Given the description of an element on the screen output the (x, y) to click on. 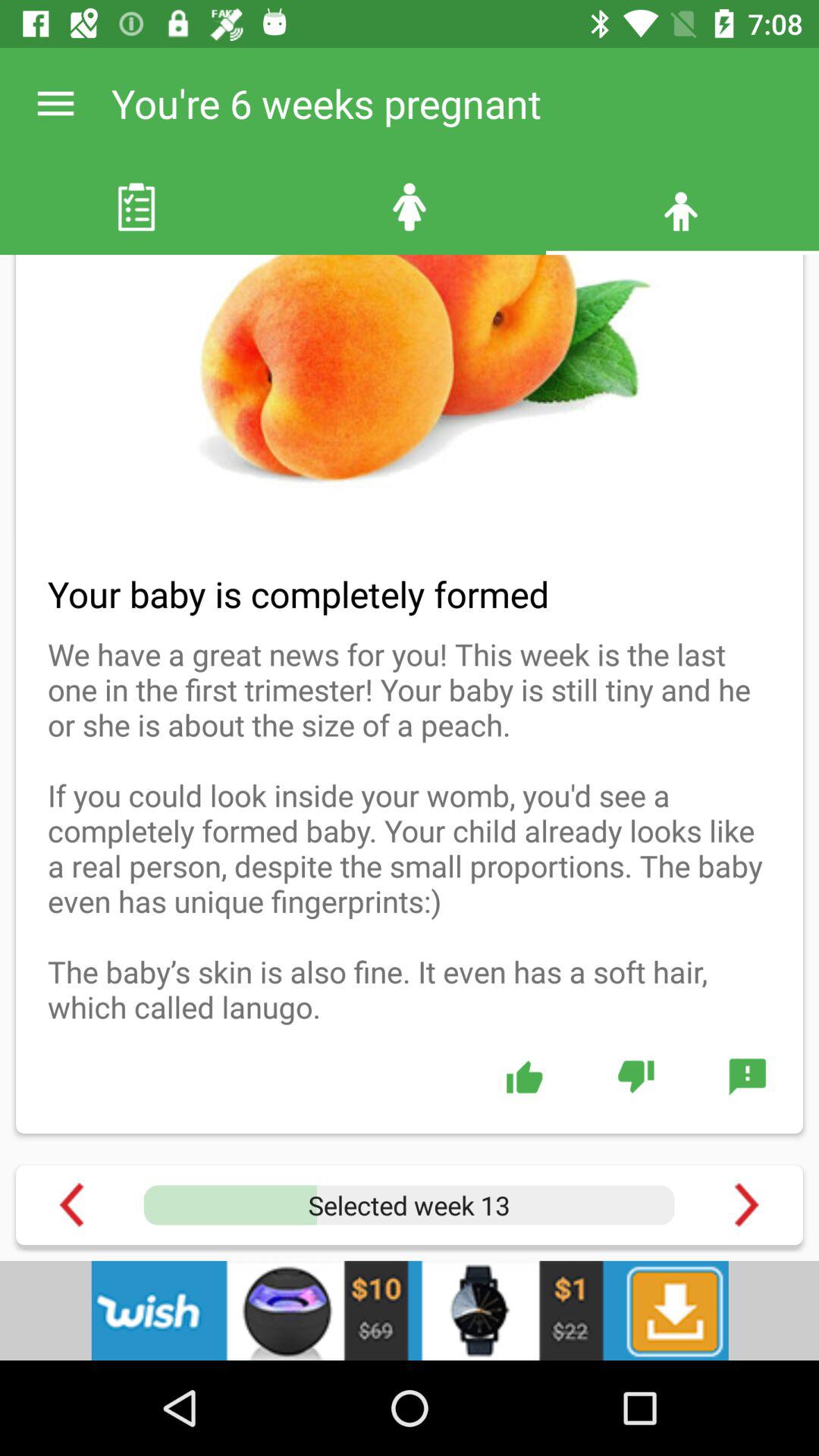
comment (747, 1076)
